Given the description of an element on the screen output the (x, y) to click on. 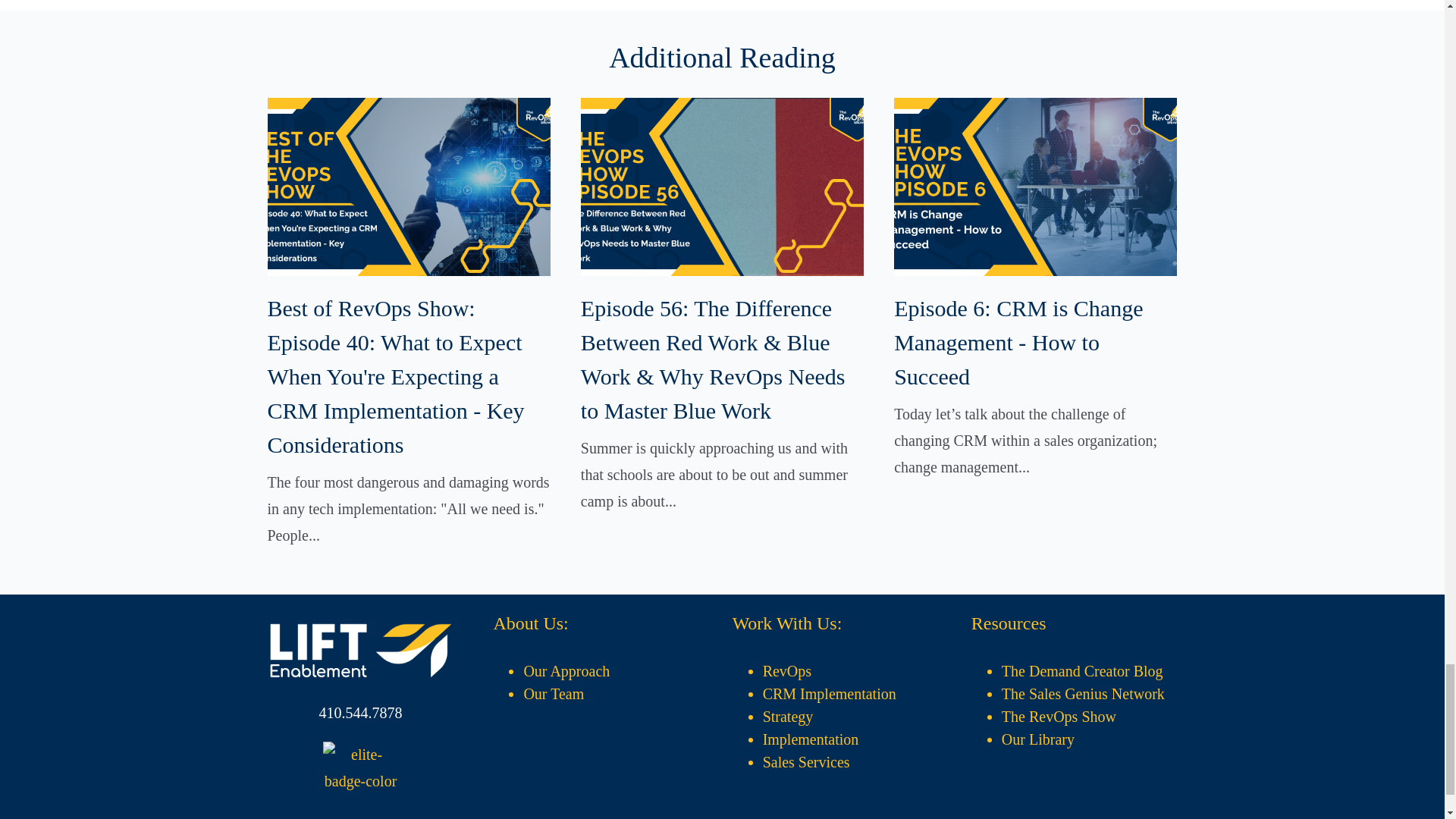
LiftEnablement - Logo - Reverse (359, 650)
